Given the description of an element on the screen output the (x, y) to click on. 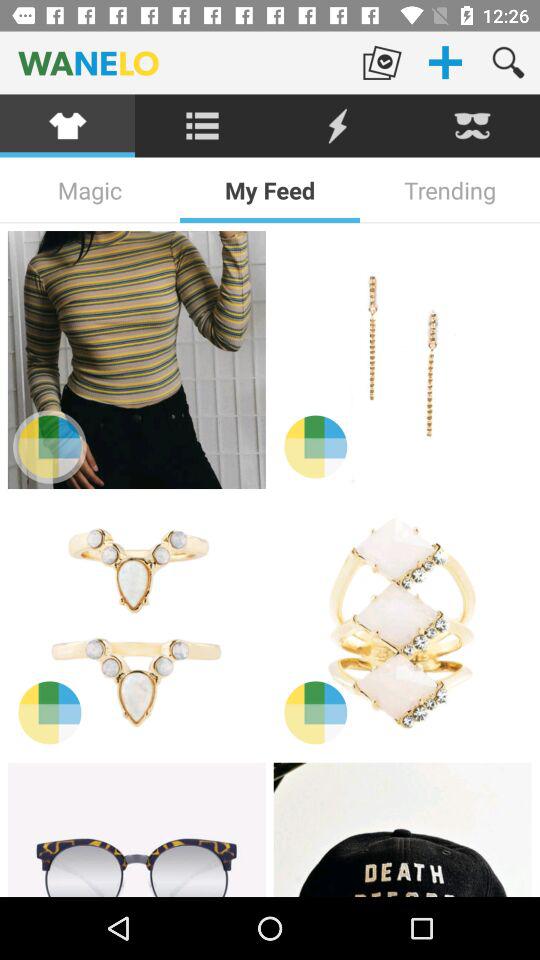
click item above magic item (202, 125)
